Given the description of an element on the screen output the (x, y) to click on. 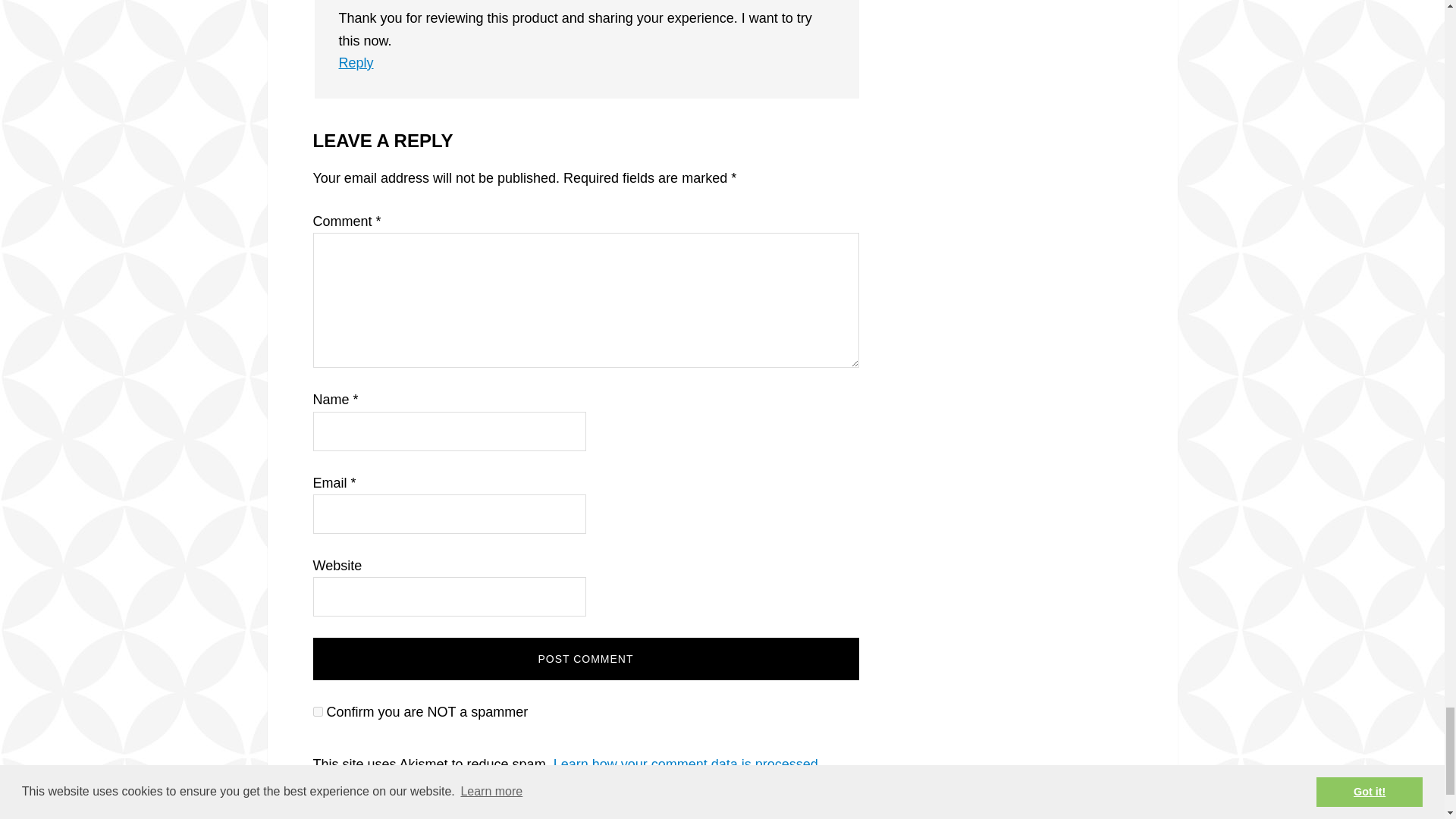
on (317, 711)
Post Comment (586, 659)
